Given the description of an element on the screen output the (x, y) to click on. 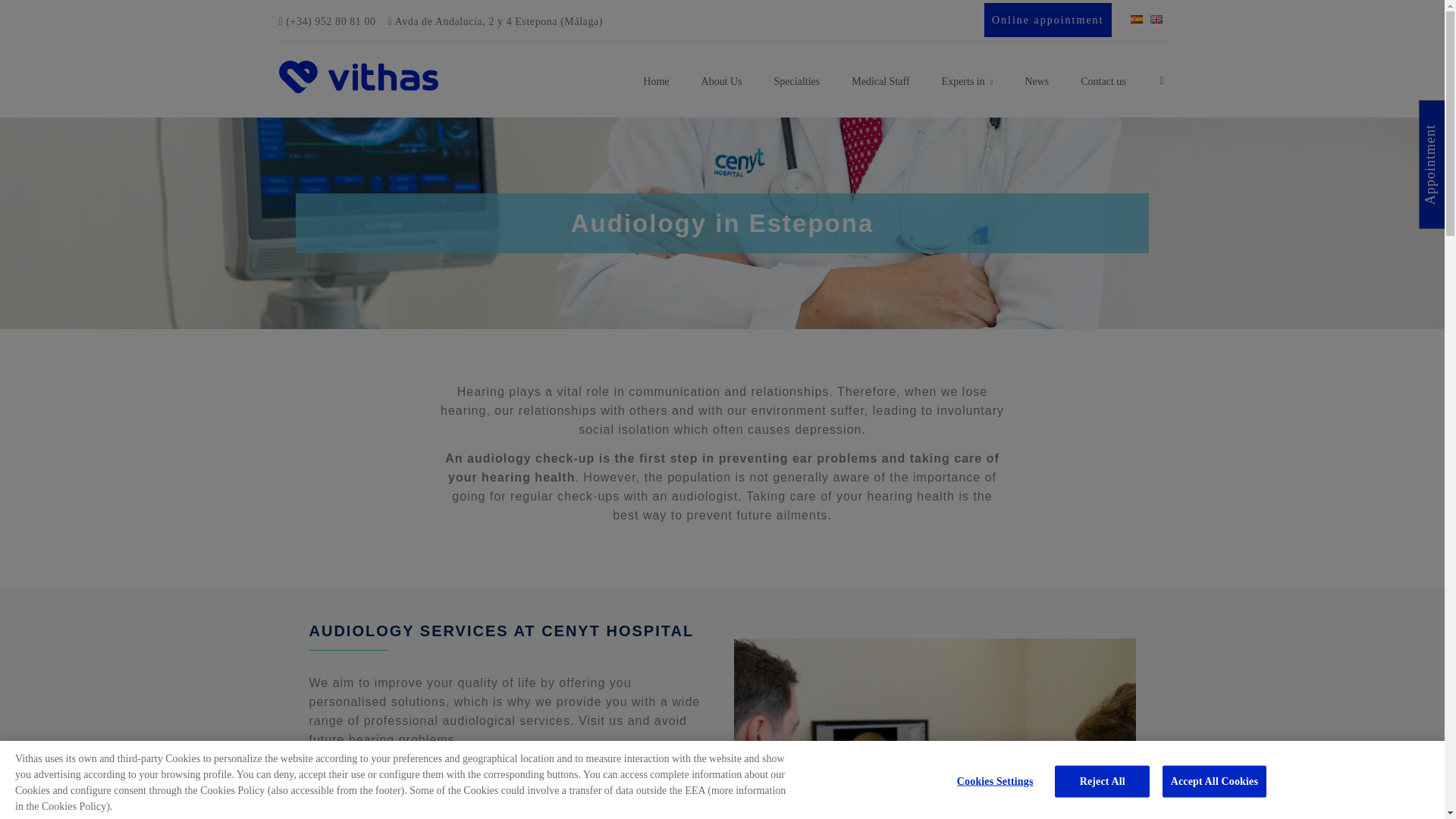
Online appointment (1048, 19)
Specialties (796, 80)
Experts in (967, 81)
Contact us (1102, 80)
exploracion-audiologia (934, 728)
About Us (721, 80)
Medical Staff (879, 80)
